Given the description of an element on the screen output the (x, y) to click on. 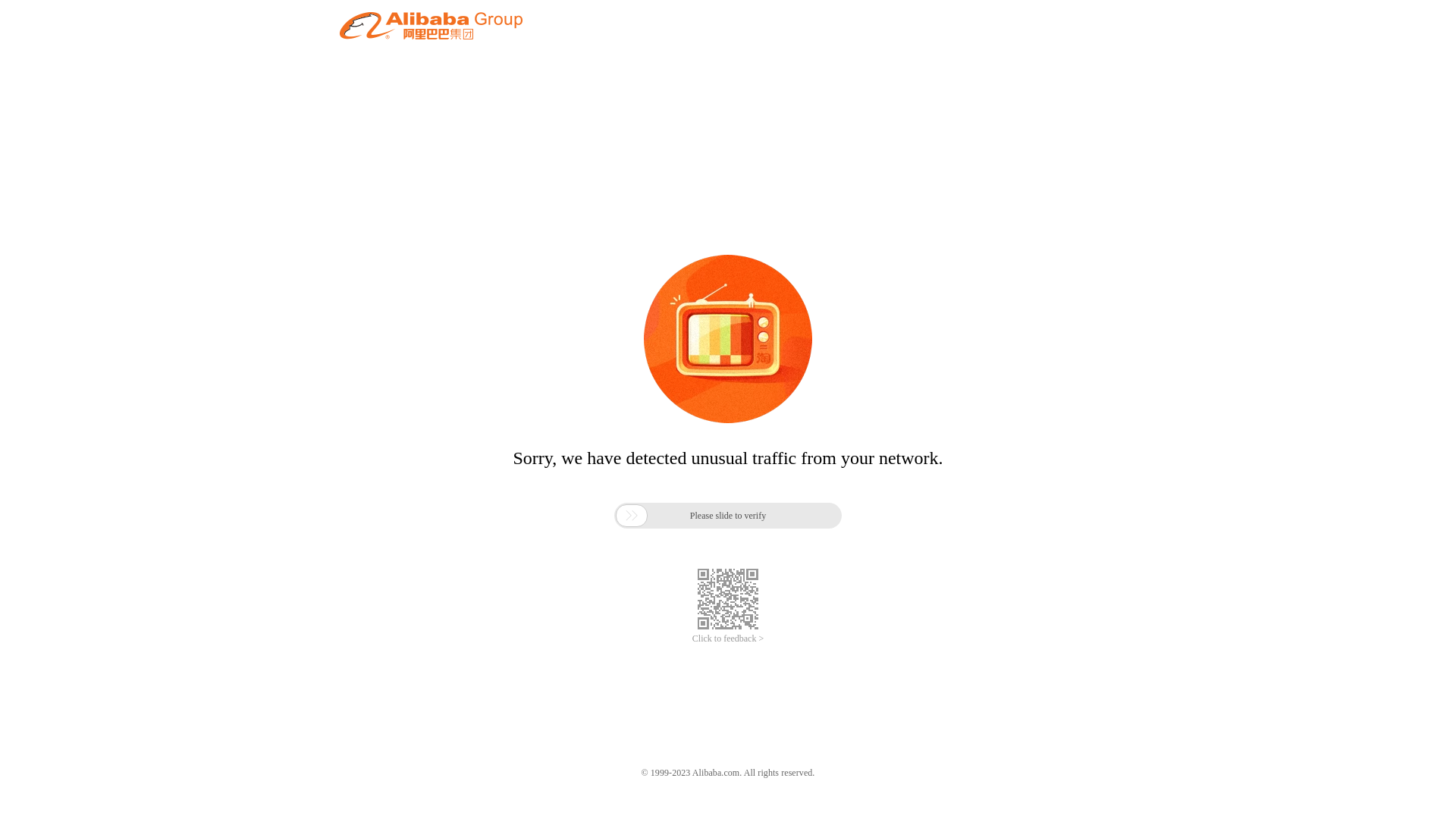
Click to feedback > Element type: text (727, 638)
